Given the description of an element on the screen output the (x, y) to click on. 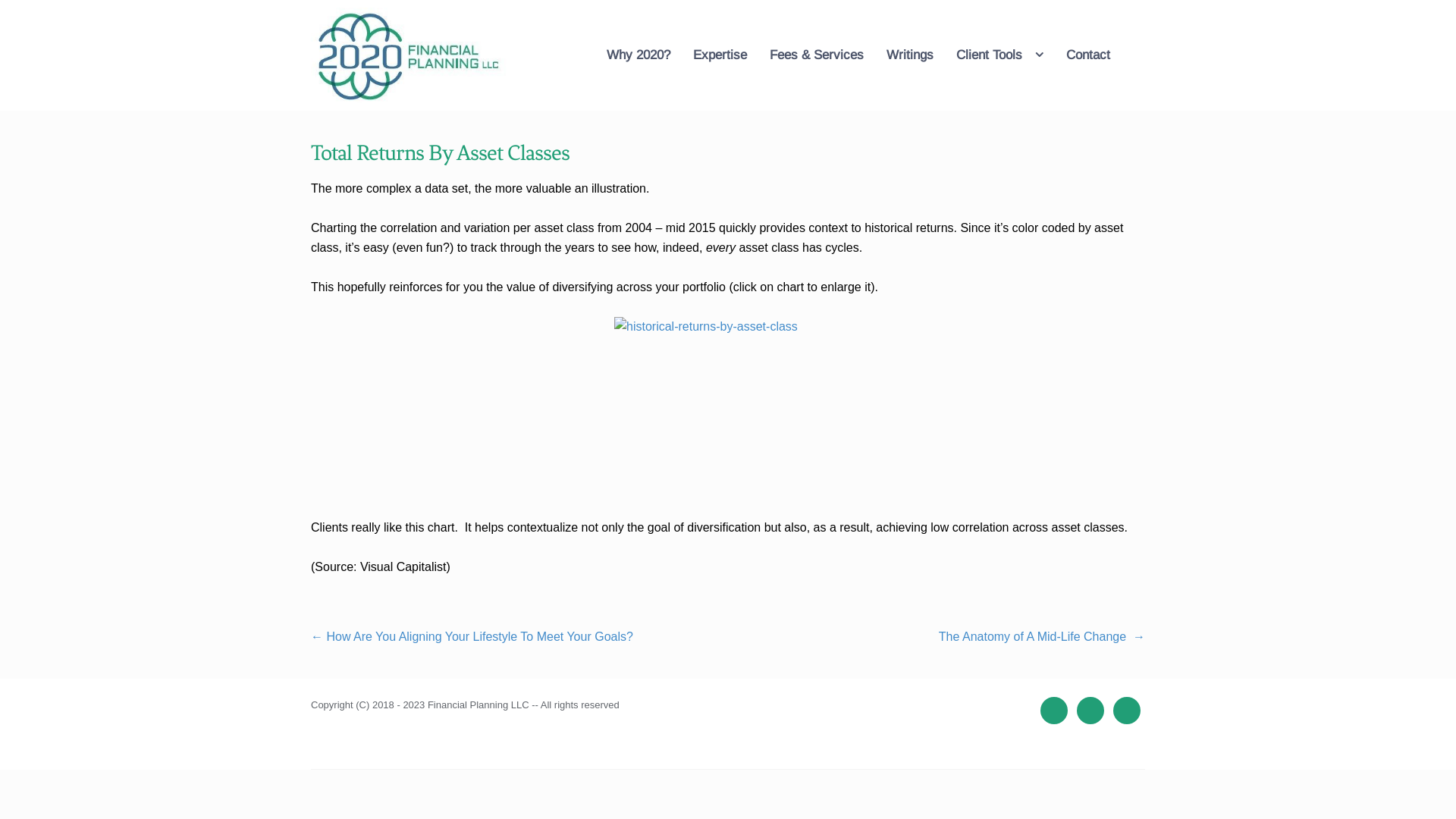
Expertise Element type: text (719, 54)
Contact Element type: text (1087, 54)
Skip to navigation Element type: text (310, 54)
Fees & Services Element type: text (816, 54)
Why 2020? Element type: text (638, 54)
Client Tools Element type: text (999, 54)
Writings Element type: text (909, 54)
